Given the description of an element on the screen output the (x, y) to click on. 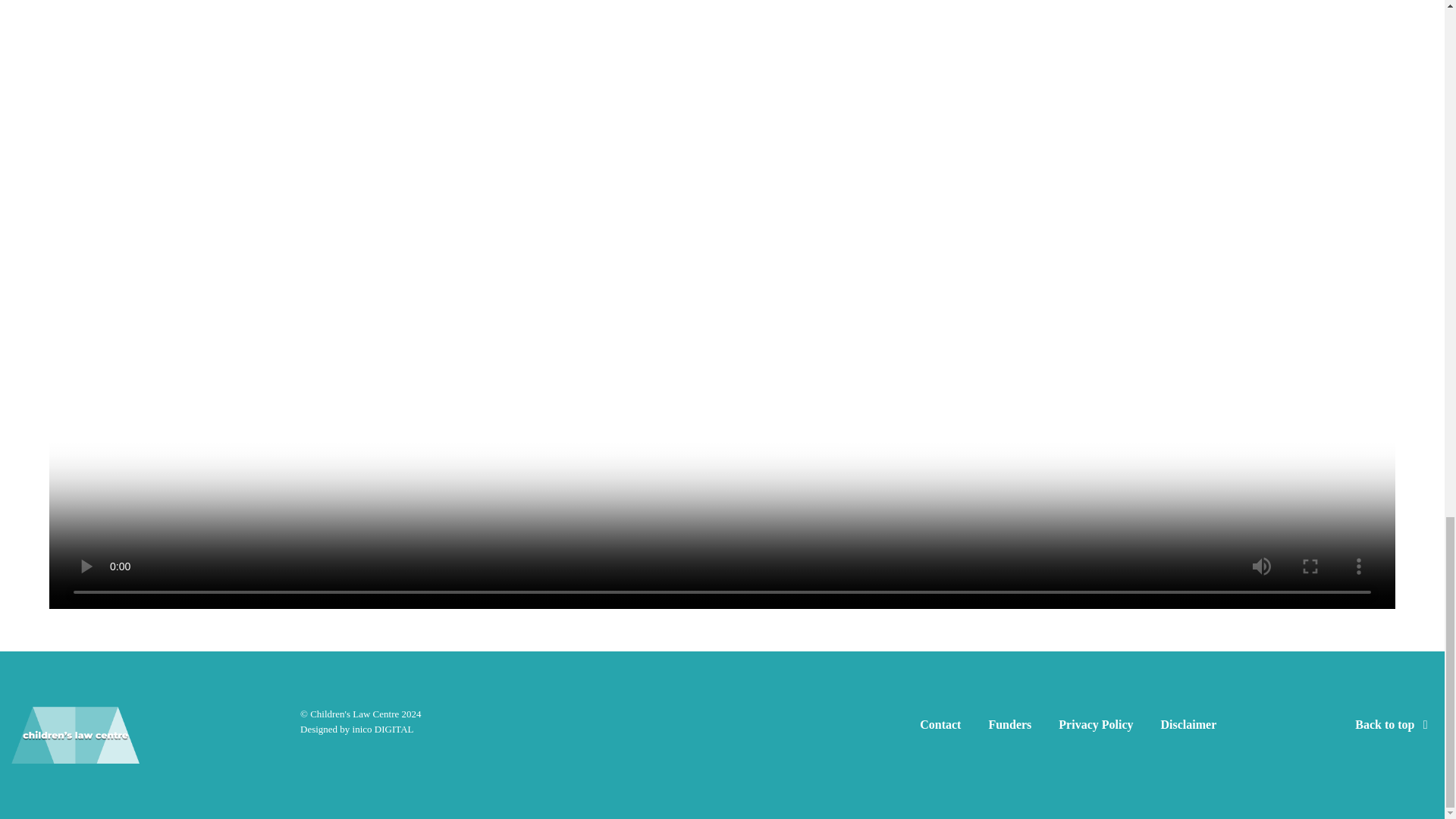
Funders (1009, 727)
Contact (940, 727)
Disclaimer (1187, 727)
Privacy Policy (1095, 727)
